Given the description of an element on the screen output the (x, y) to click on. 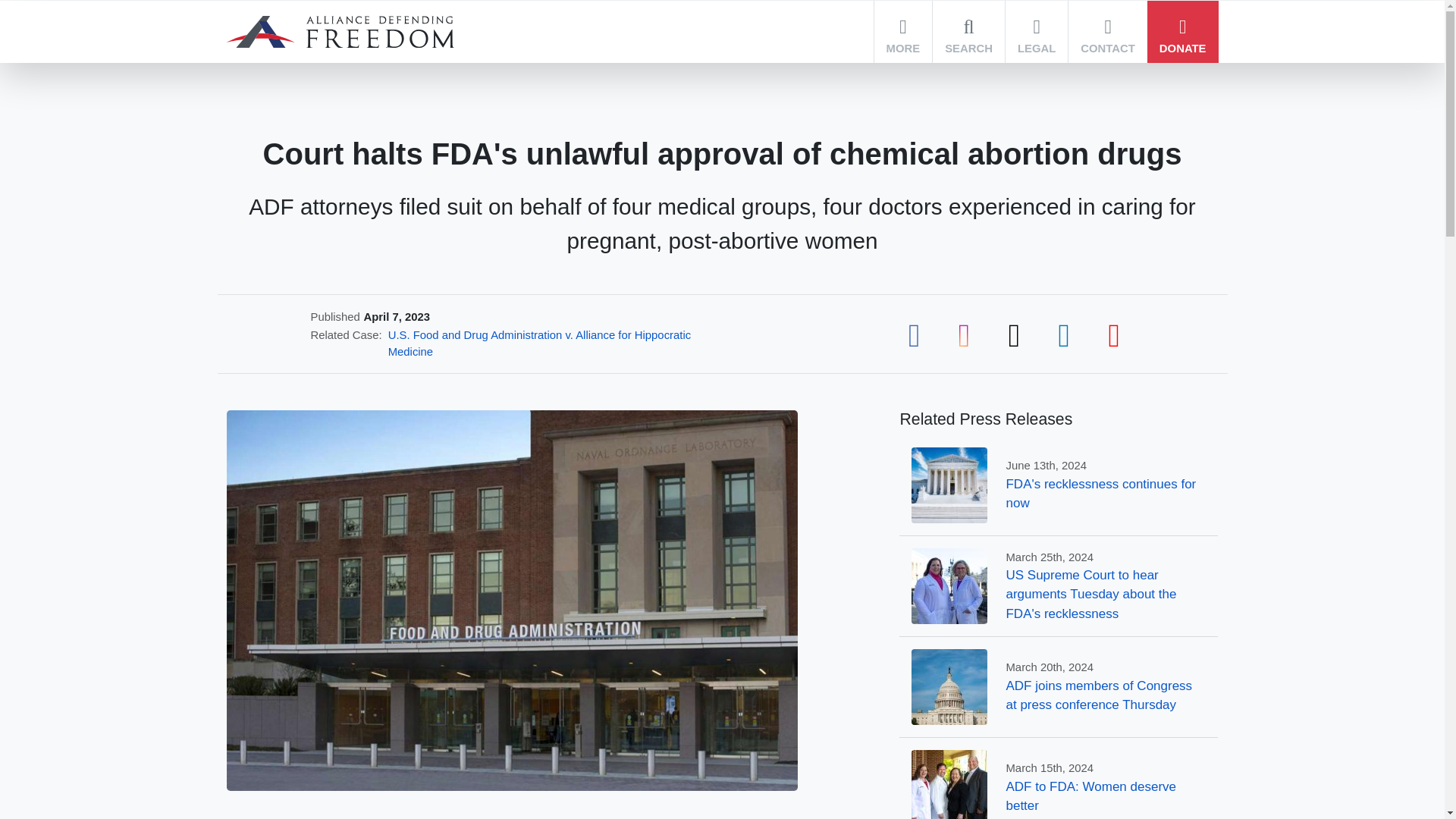
DONATE (1182, 31)
SEARCH (968, 31)
Home (338, 31)
CONTACT (1107, 31)
YouTube (1113, 332)
MORE (904, 31)
Instagram (963, 332)
LinkedIn (1063, 332)
Facebook (913, 332)
Published on April 7, 2023 (397, 316)
LEGAL (1036, 31)
